Given the description of an element on the screen output the (x, y) to click on. 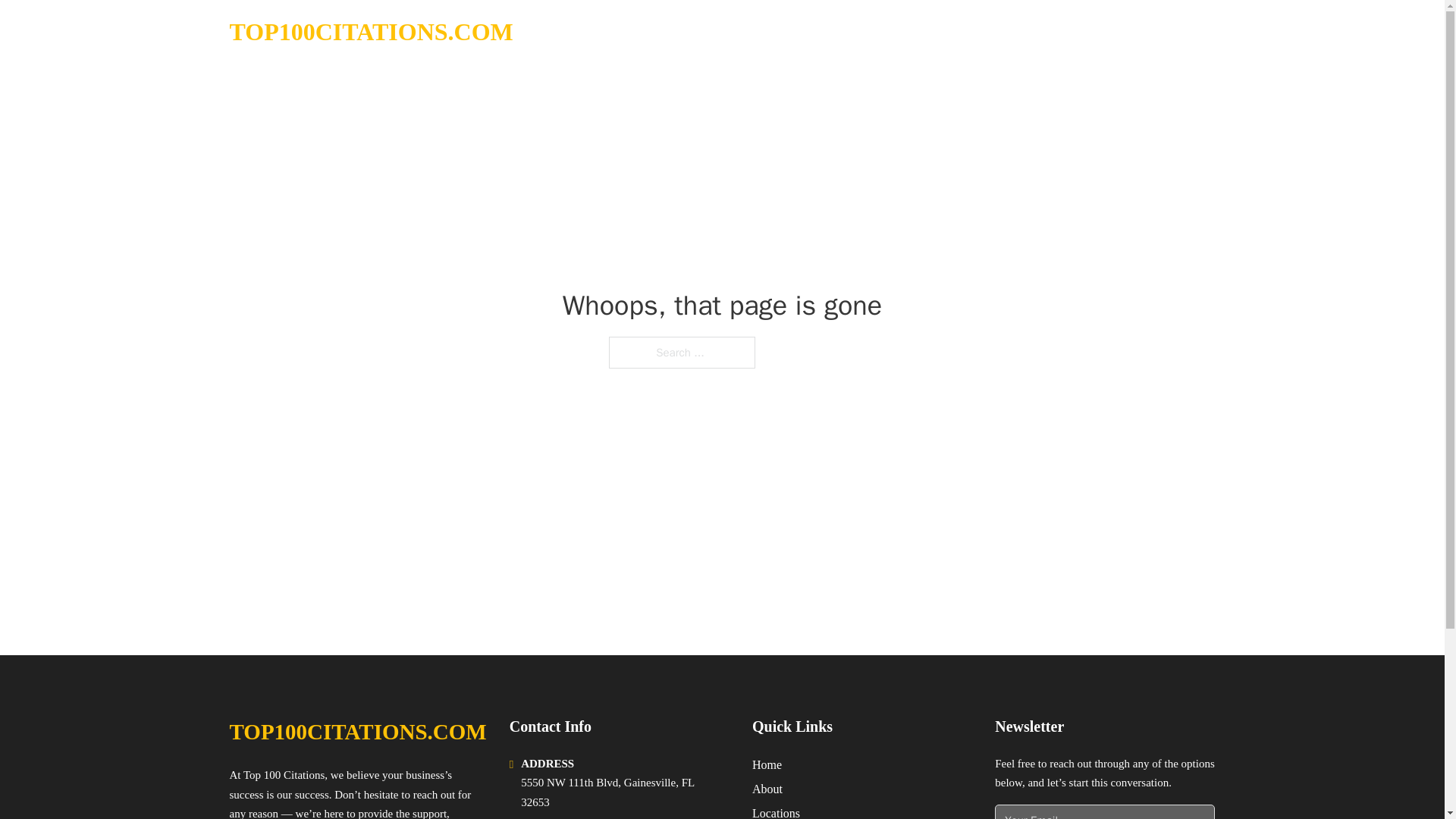
LOCATIONS (1098, 31)
TOP100CITATIONS.COM (357, 732)
Home (766, 764)
About (767, 788)
Locations (775, 811)
TOP100CITATIONS.COM (370, 31)
HOME (1025, 31)
